Given the description of an element on the screen output the (x, y) to click on. 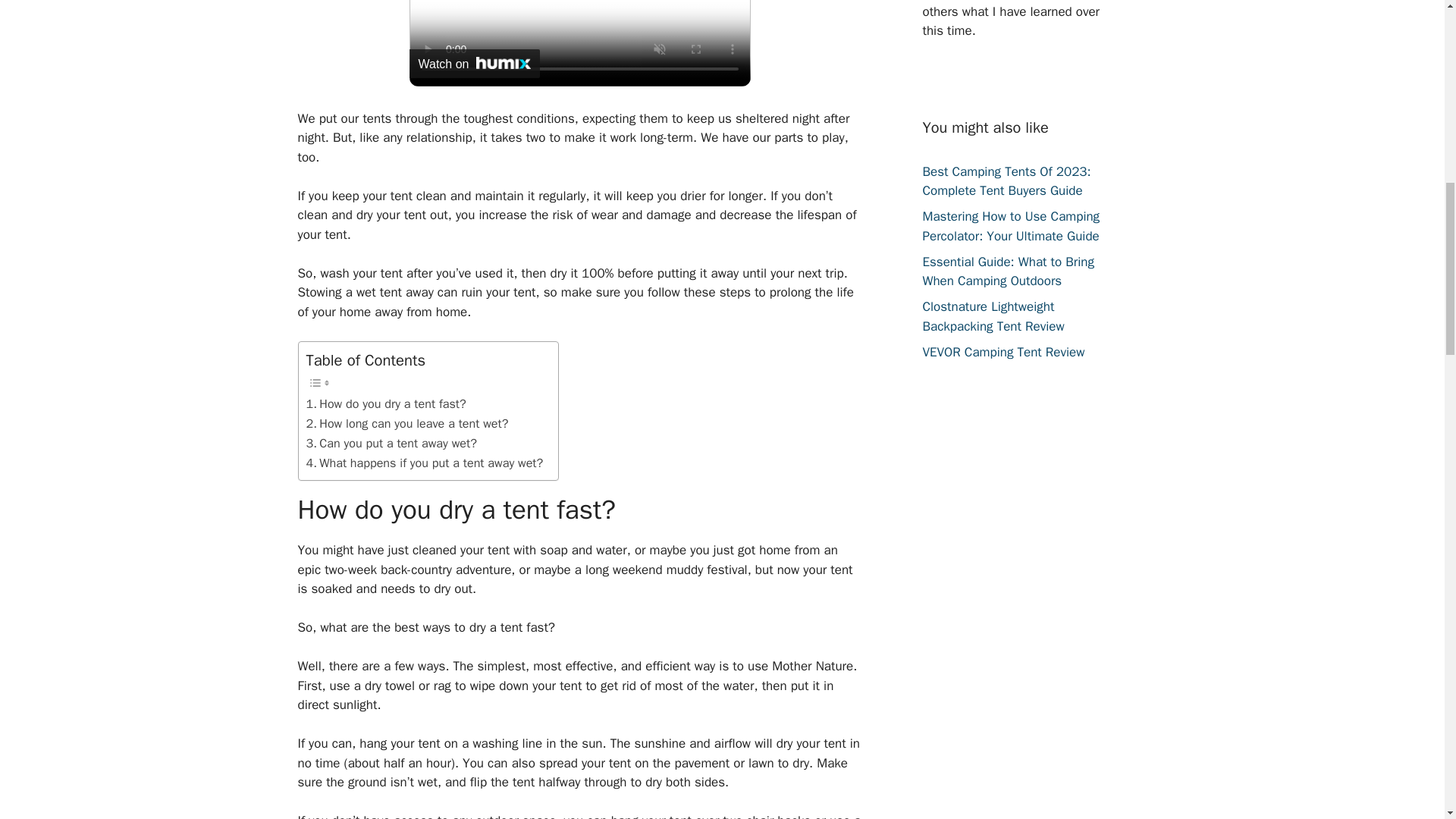
Can you put a tent away wet? (391, 443)
How long can you leave a tent wet? (406, 424)
What happens if you put a tent away wet? (424, 463)
Watch on (474, 63)
How do you dry a tent fast? (385, 403)
How do you dry a tent fast? (385, 403)
How long can you leave a tent wet? (406, 424)
Can you put a tent away wet? (391, 443)
